Given the description of an element on the screen output the (x, y) to click on. 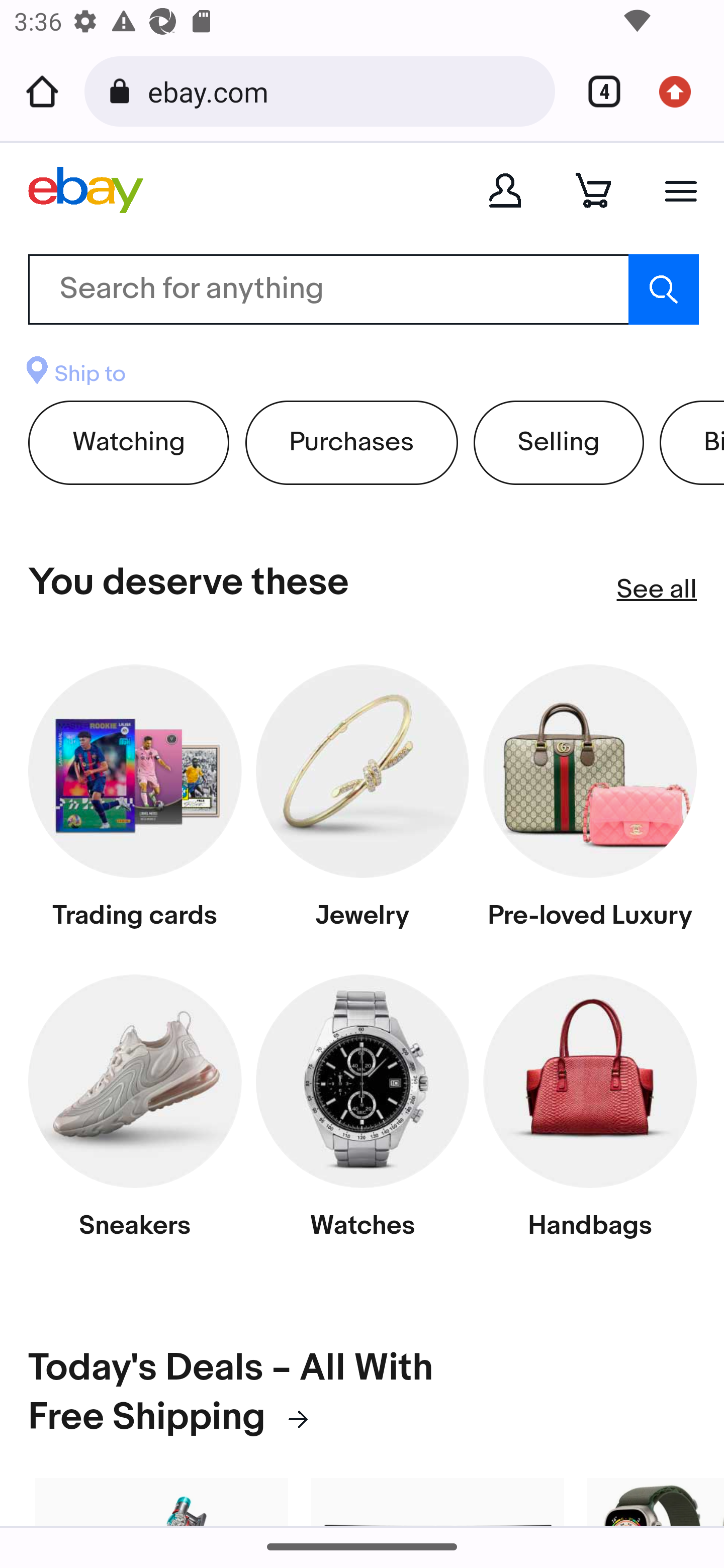
Home (42, 91)
Connection is secure (122, 91)
Switch or close tabs (597, 91)
Update available. More options (681, 91)
ebay.com (343, 90)
Open Menu (680, 191)
My eBay (504, 190)
Your shopping cart is empty (593, 190)
eBay Home (86, 189)
Search (663, 289)
Ship to (75, 376)
Watching (129, 442)
Purchases (351, 442)
Selling (558, 442)
You deserve these (188, 582)
Trading cards (135, 805)
Jewelry (361, 805)
Pre-loved Luxury (590, 805)
Sneakers (135, 1115)
Watches (361, 1115)
Handbags (590, 1115)
